Given the description of an element on the screen output the (x, y) to click on. 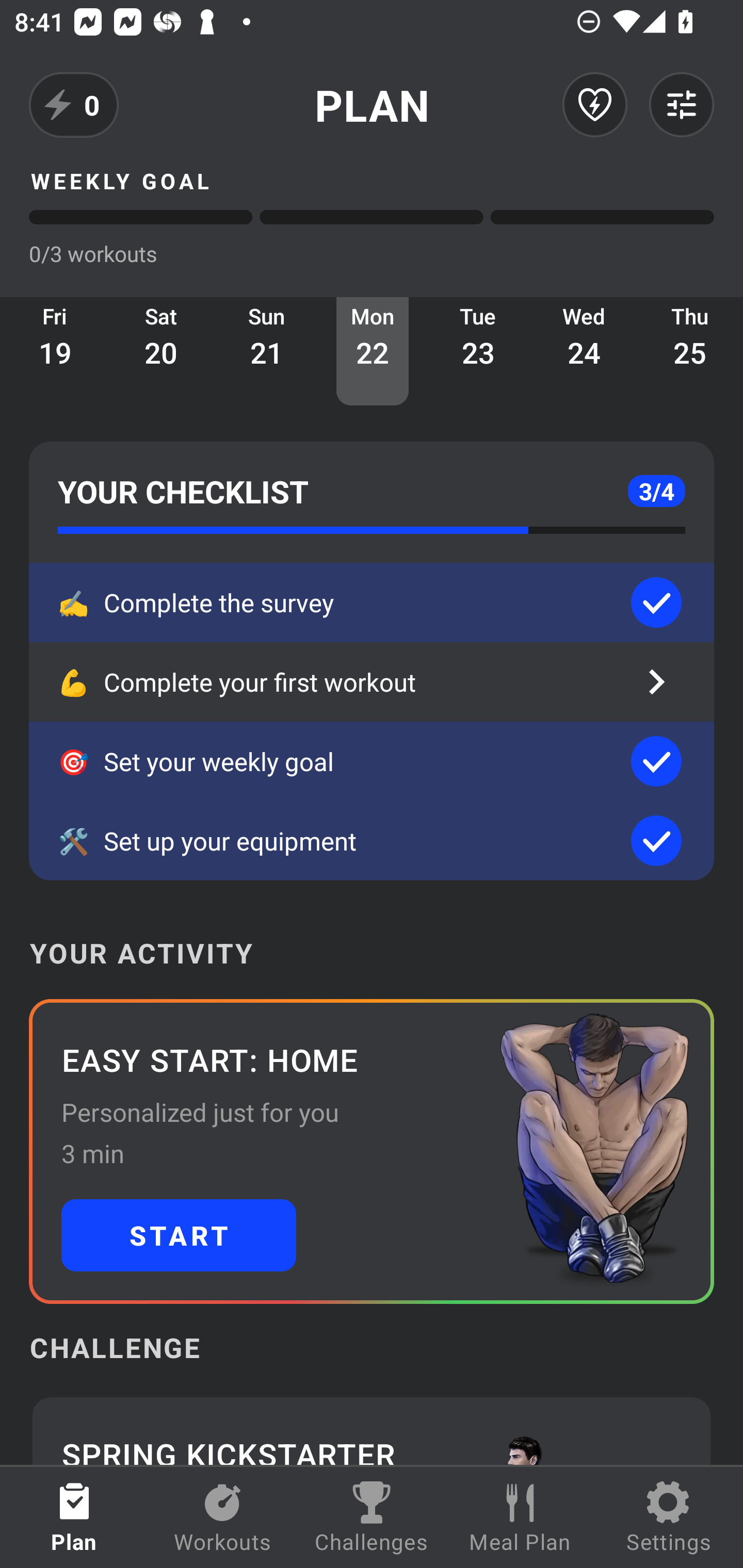
0 (73, 104)
Fri 19 (55, 351)
Sat 20 (160, 351)
Sun 21 (266, 351)
Mon 22 (372, 351)
Tue 23 (478, 351)
Wed 24 (584, 351)
Thu 25 (690, 351)
💪 Complete your first workout (371, 681)
START (178, 1235)
 Workouts  (222, 1517)
 Challenges  (371, 1517)
 Meal Plan  (519, 1517)
 Settings  (668, 1517)
